Given the description of an element on the screen output the (x, y) to click on. 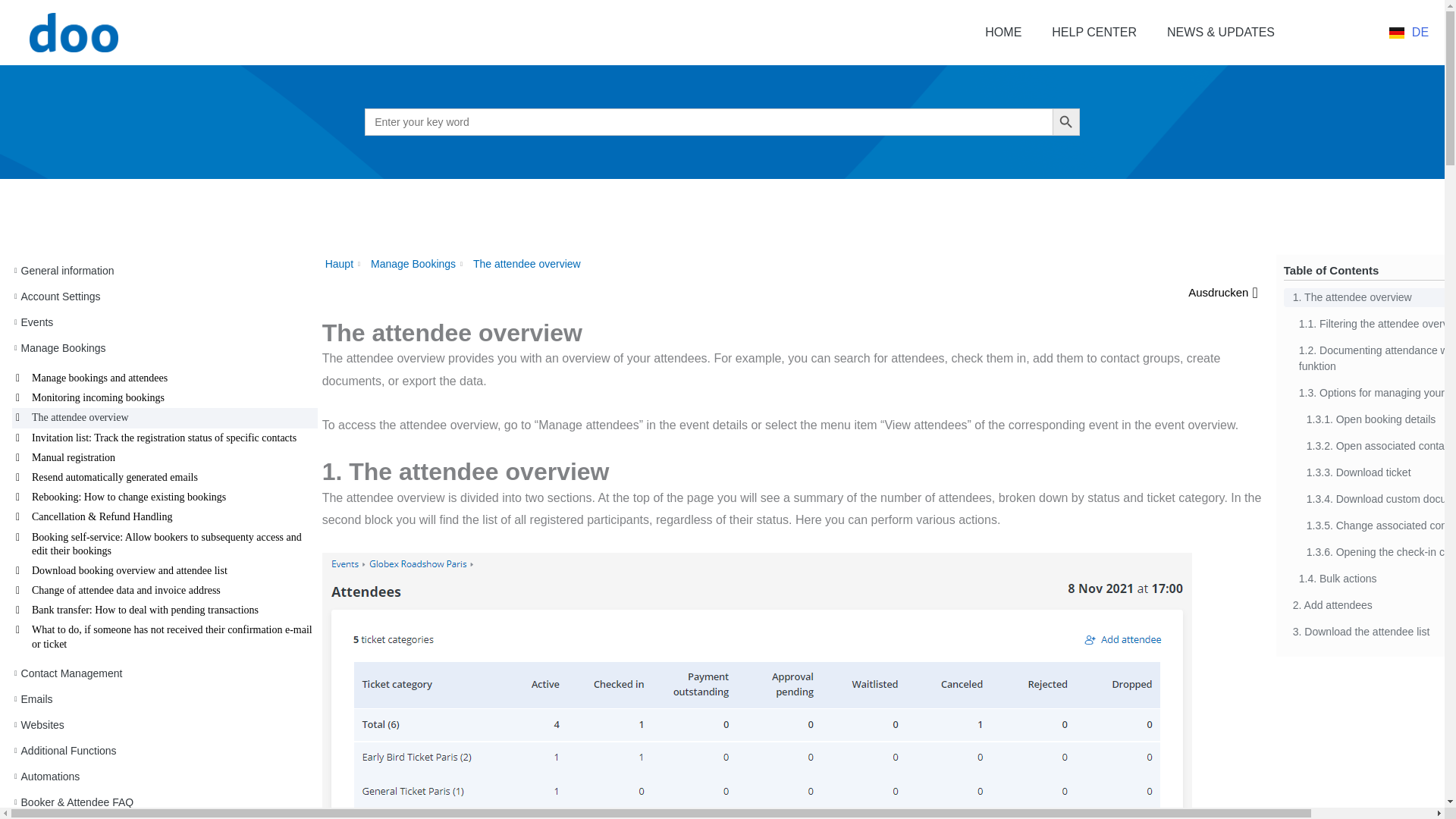
HELP CENTER (1093, 32)
DE (1408, 32)
Search Button (1066, 121)
HOME (1002, 32)
